Given the description of an element on the screen output the (x, y) to click on. 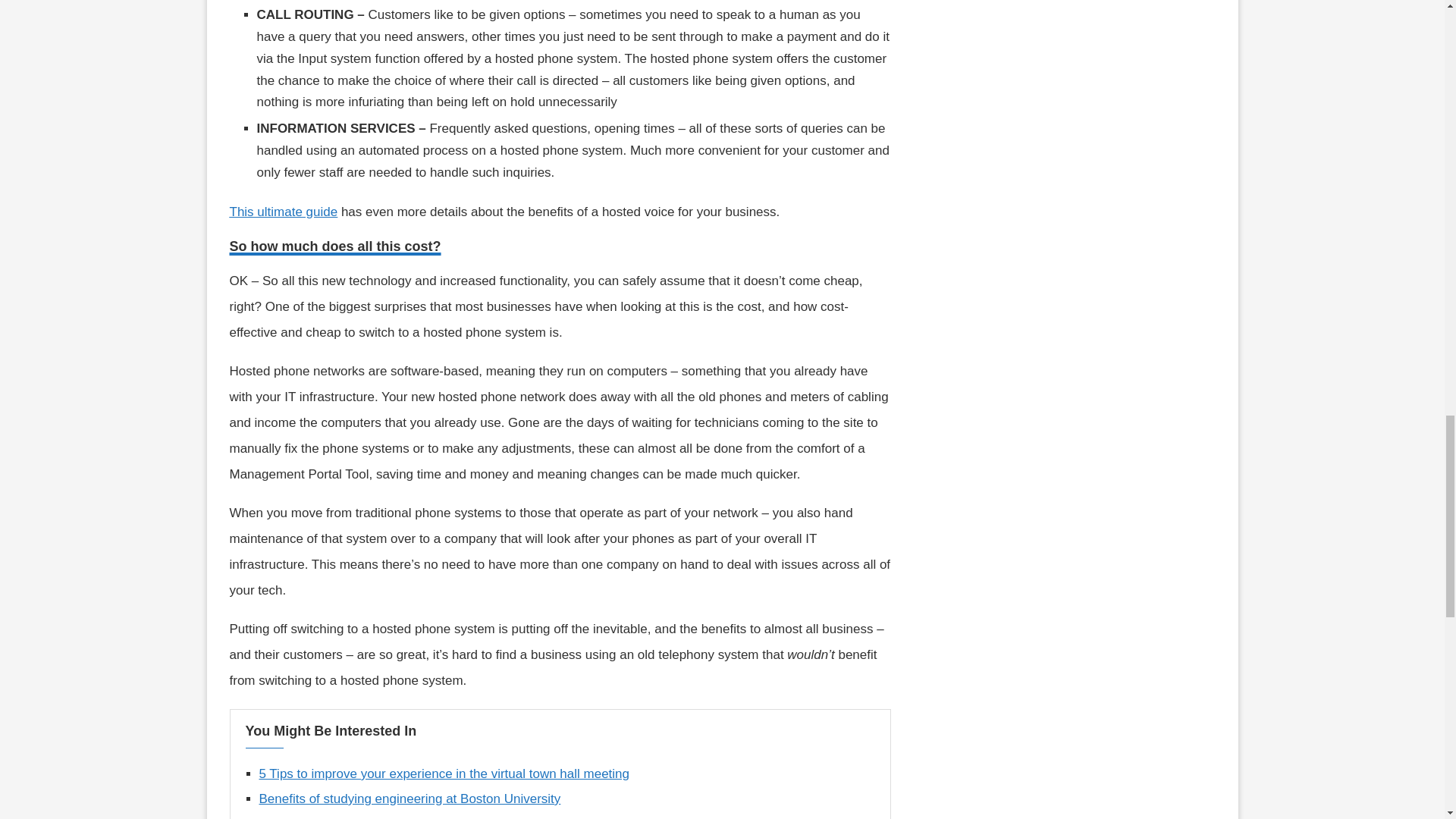
This ultimate guide (282, 211)
Benefits of studying engineering at Boston University (409, 798)
